Given the description of an element on the screen output the (x, y) to click on. 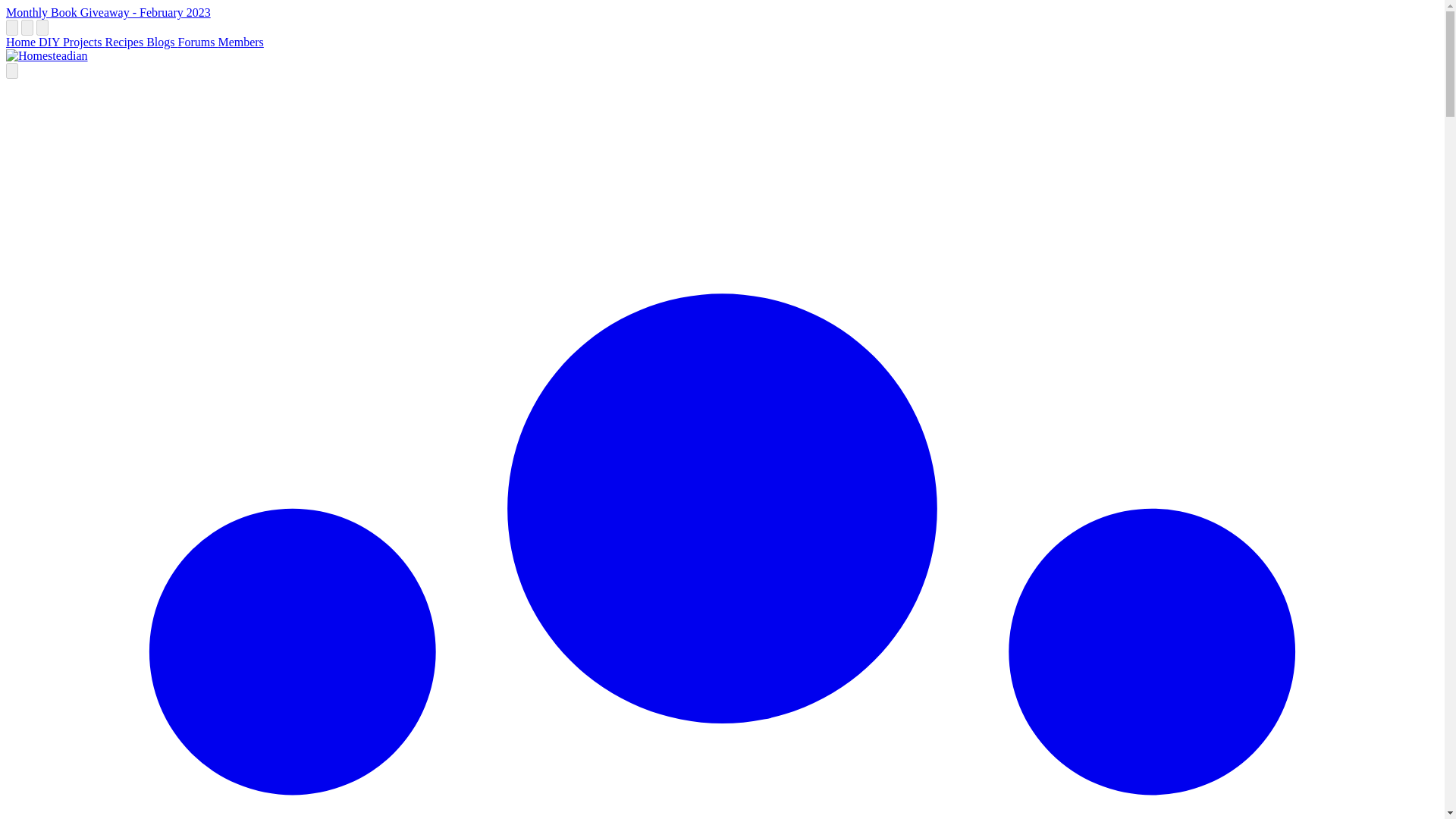
Home (22, 42)
Forums (196, 42)
Homesteadian (46, 56)
Monthly Book Giveaway - February 2023 (108, 11)
Blogs (162, 42)
Recipes (125, 42)
DIY Projects (71, 42)
Homesteadian (46, 55)
Members (239, 42)
